Given the description of an element on the screen output the (x, y) to click on. 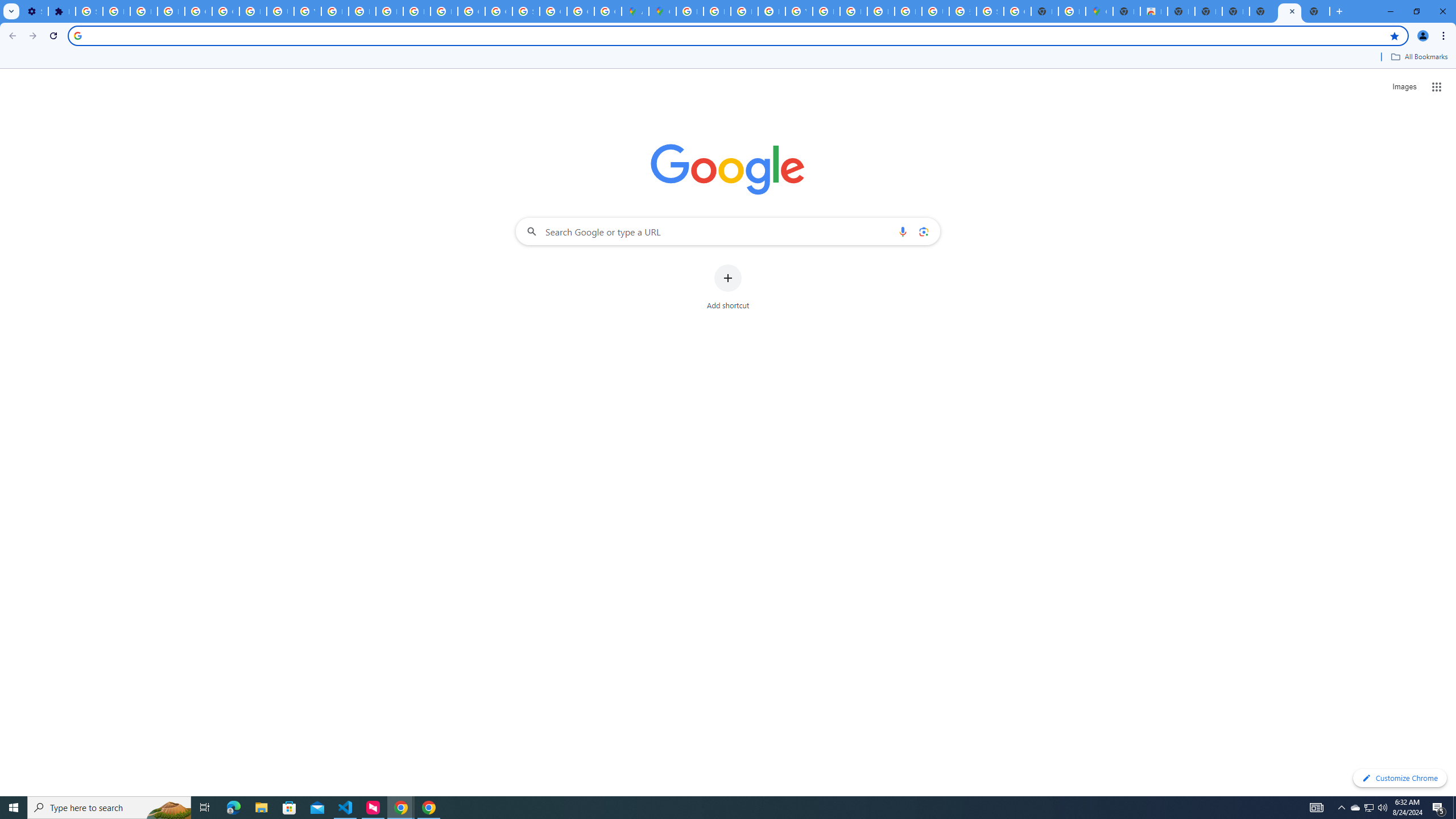
Sign in - Google Accounts (88, 11)
Policy Accountability and Transparency - Transparency Center (690, 11)
Learn how to find your photos - Google Photos Help (144, 11)
Bookmarks (728, 58)
Explore new street-level details - Google Maps Help (1071, 11)
Privacy Help Center - Policies Help (716, 11)
Create your Google Account (607, 11)
Delete photos & videos - Computer - Google Photos Help (116, 11)
Google Account Help (225, 11)
Sign in - Google Accounts (990, 11)
